Given the description of an element on the screen output the (x, y) to click on. 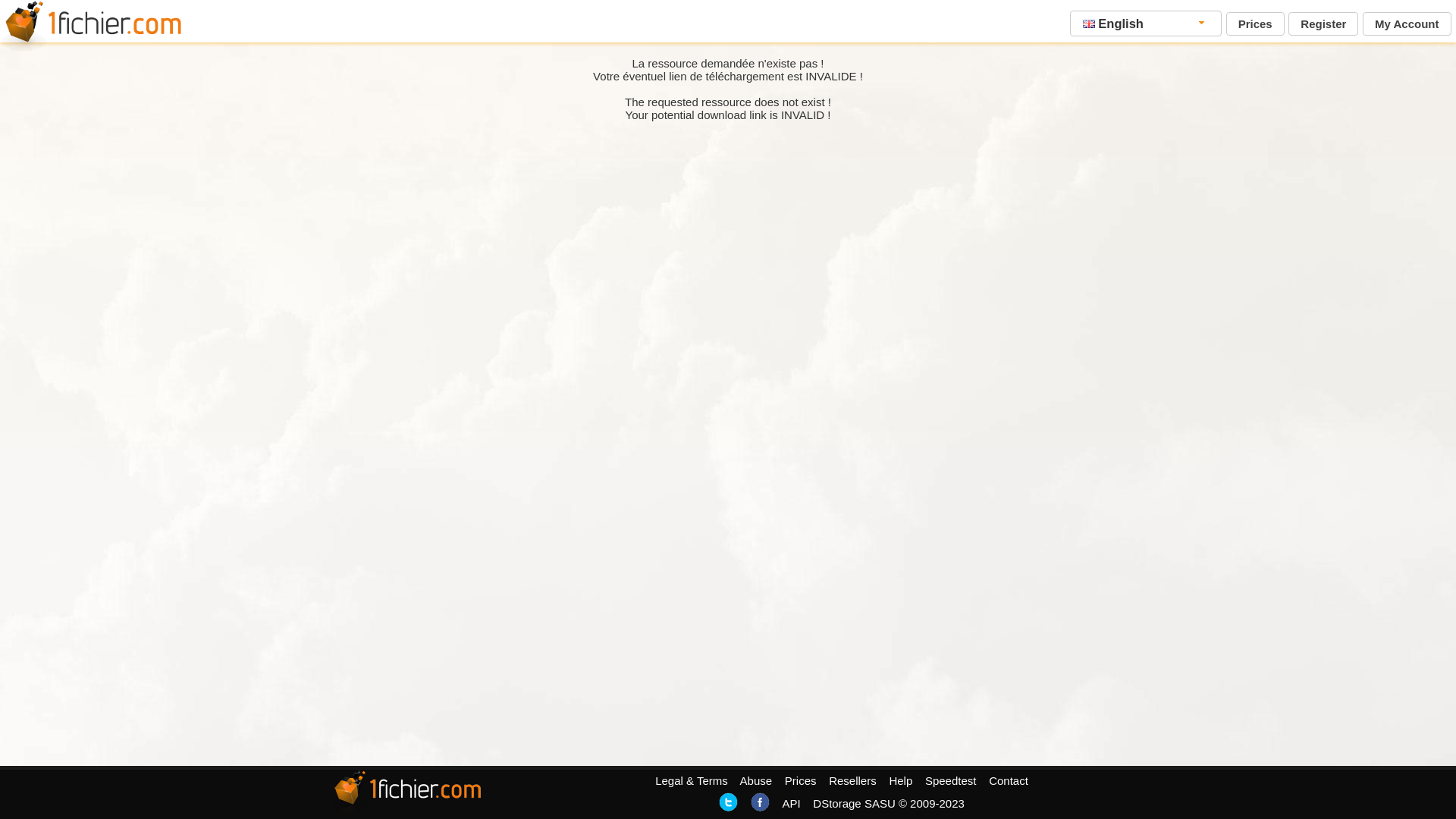
Register Element type: text (1323, 23)
Help Element type: text (900, 780)
Contact Element type: text (1008, 780)
My Account Element type: text (1406, 23)
Abuse Element type: text (756, 780)
Prices Element type: text (800, 780)
API Element type: text (790, 803)
Prices Element type: text (1255, 23)
Speedtest Element type: text (950, 780)
Resellers Element type: text (852, 780)
Legal & Terms Element type: text (691, 780)
